Given the description of an element on the screen output the (x, y) to click on. 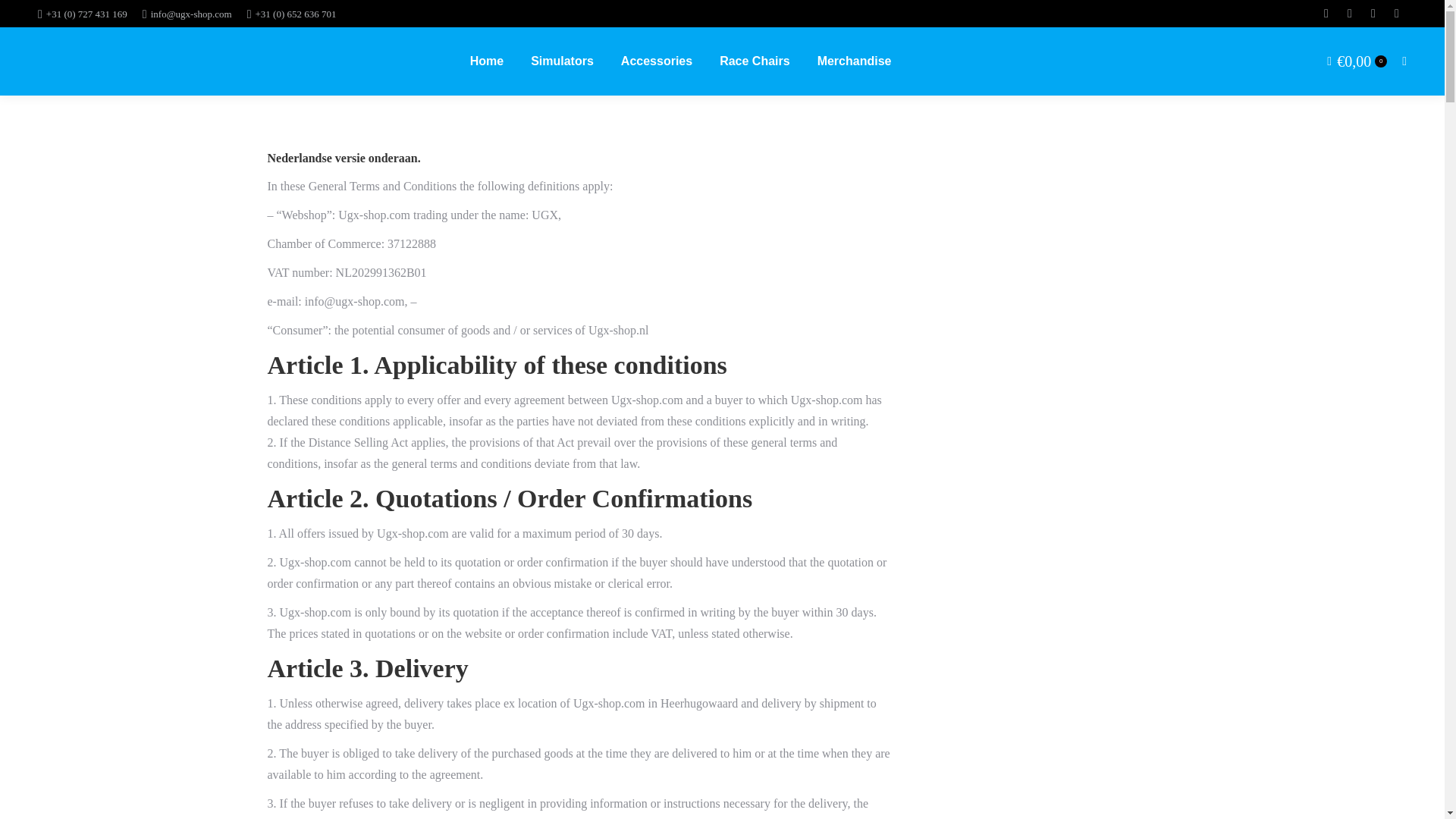
YouTube page opens in new window (1396, 13)
Simulators (561, 60)
Merchandise (854, 60)
Race Chairs (754, 60)
Instagram page opens in new window (1372, 13)
X page opens in new window (1349, 13)
X page opens in new window (1349, 13)
Go! (24, 16)
Home (486, 60)
Facebook page opens in new window (1326, 13)
YouTube page opens in new window (1396, 13)
Accessories (656, 60)
Facebook page opens in new window (1326, 13)
Instagram page opens in new window (1372, 13)
